Given the description of an element on the screen output the (x, y) to click on. 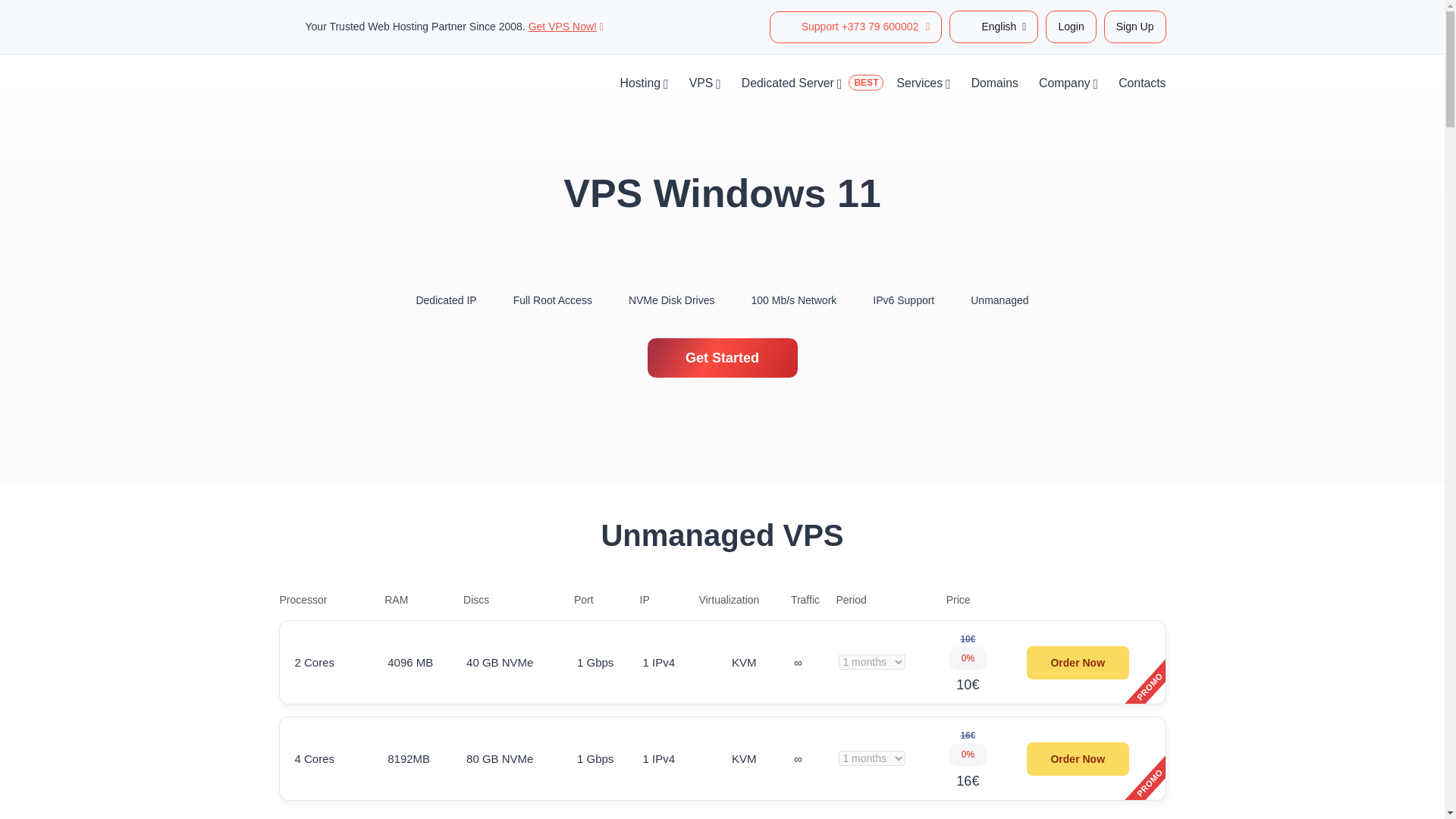
Get VPS Now! (566, 26)
VPS (700, 82)
Login (1070, 26)
English (993, 26)
Sign Up (1134, 26)
